Given the description of an element on the screen output the (x, y) to click on. 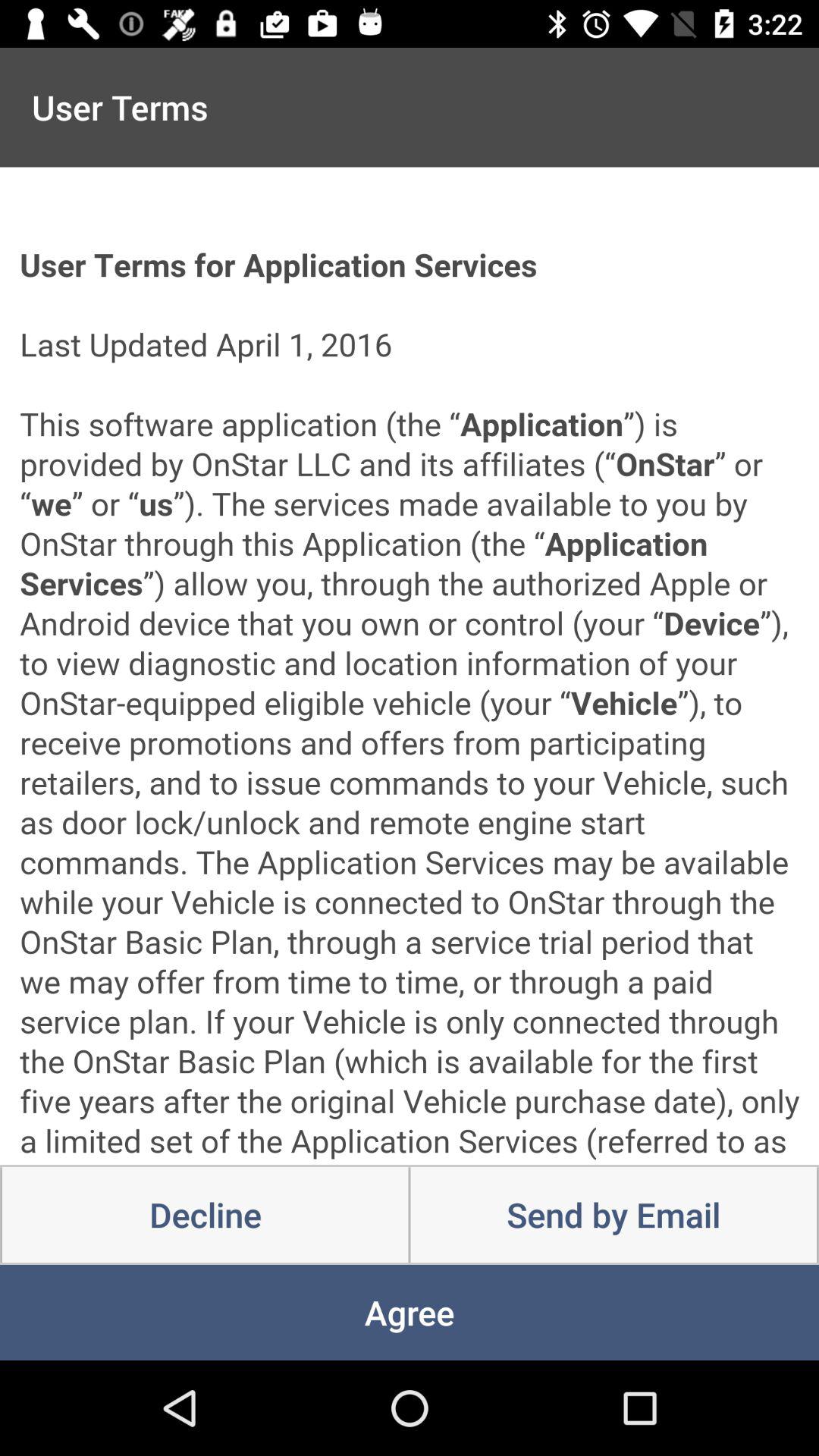
press item at the center (409, 665)
